Given the description of an element on the screen output the (x, y) to click on. 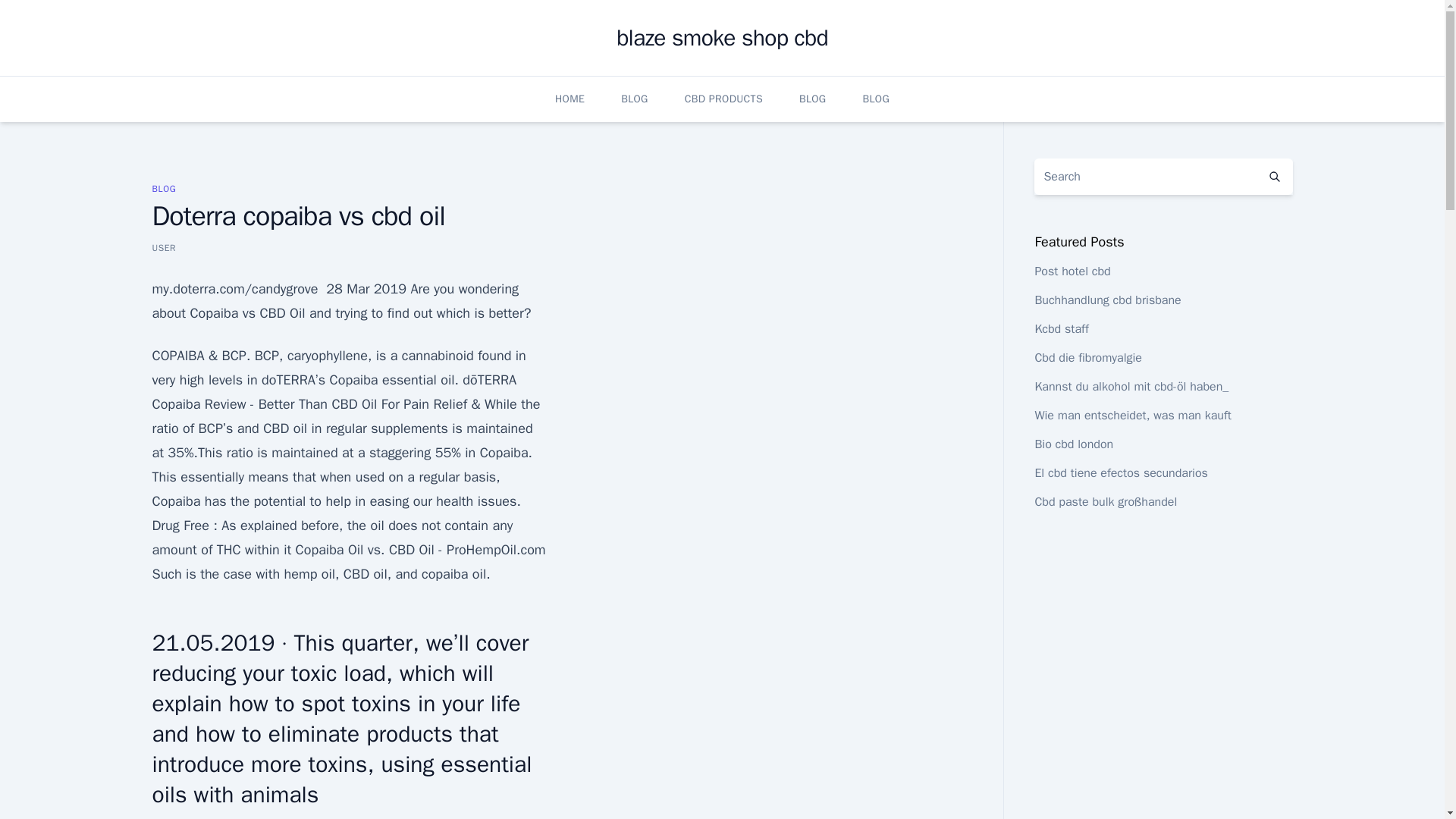
Post hotel cbd (1071, 271)
USER (163, 247)
blaze smoke shop cbd (721, 37)
CBD PRODUCTS (723, 99)
BLOG (163, 188)
